Given the description of an element on the screen output the (x, y) to click on. 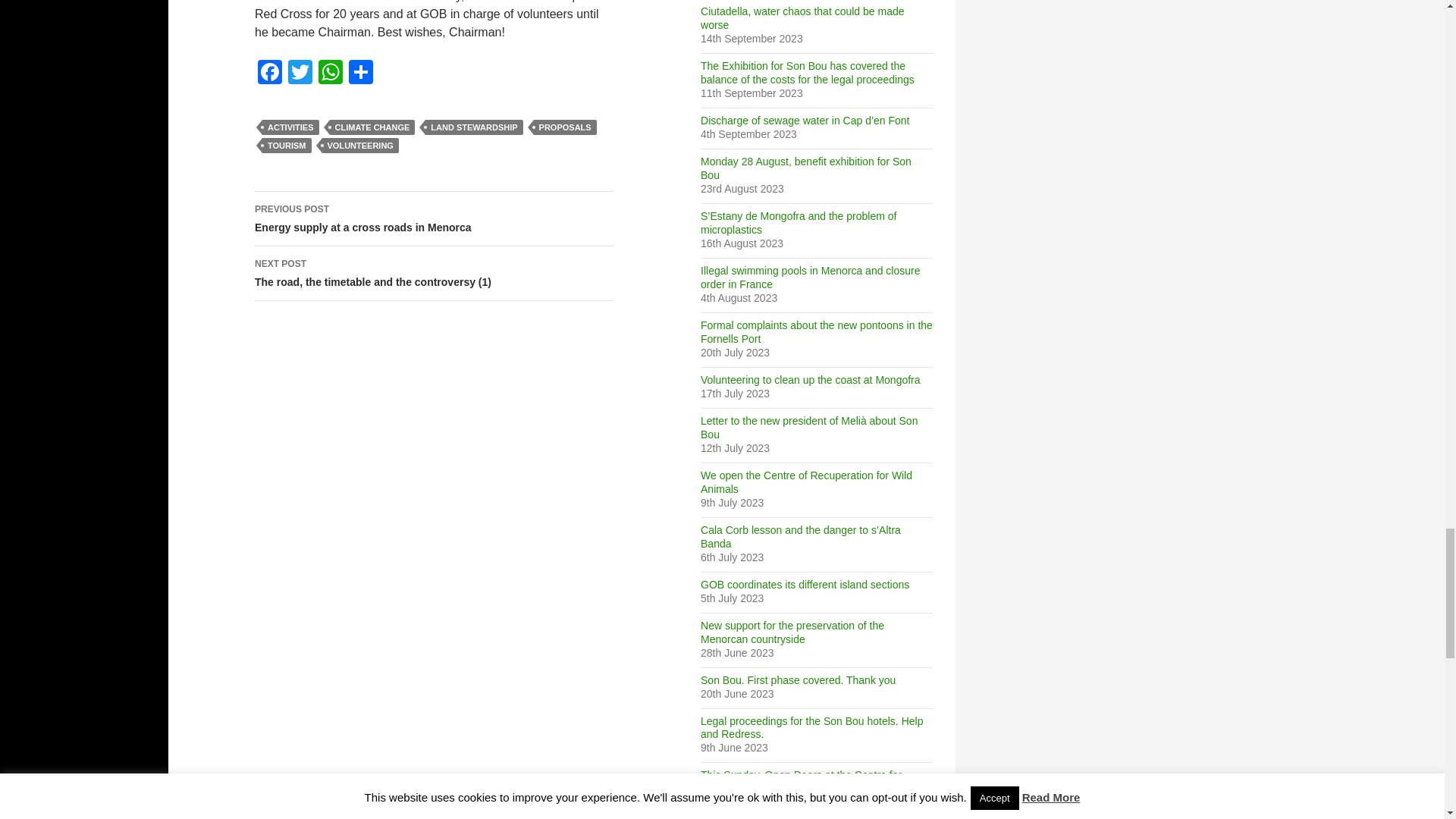
Facebook (269, 73)
Twitter (300, 73)
Facebook (269, 73)
Twitter (300, 73)
WhatsApp (330, 73)
WhatsApp (330, 73)
